Given the description of an element on the screen output the (x, y) to click on. 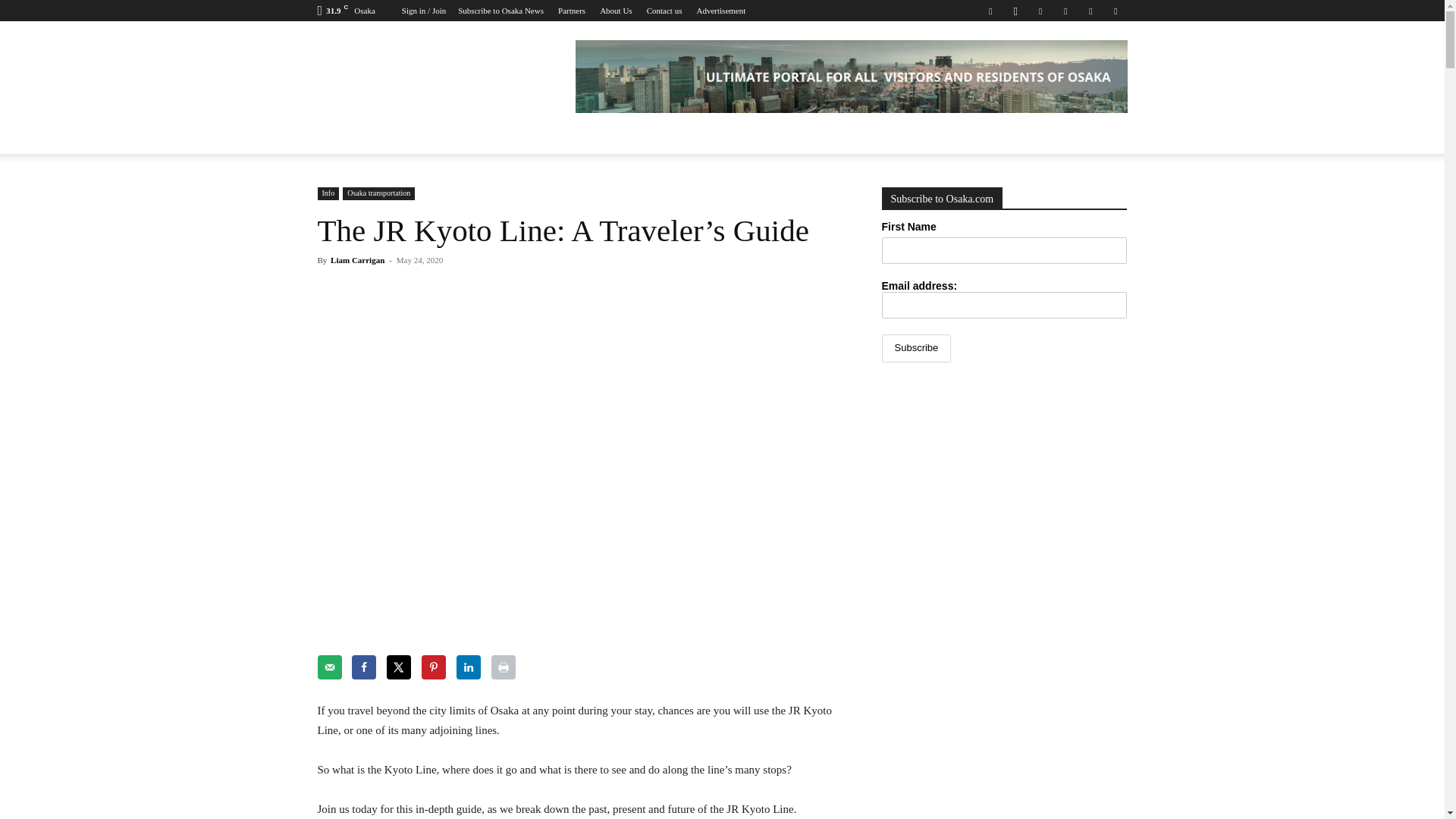
Linkedin (1040, 10)
Instagram (1015, 10)
Youtube (1114, 10)
Twitter (1090, 10)
Facebook (989, 10)
Pinterest (1065, 10)
Subscribe (915, 348)
